Given the description of an element on the screen output the (x, y) to click on. 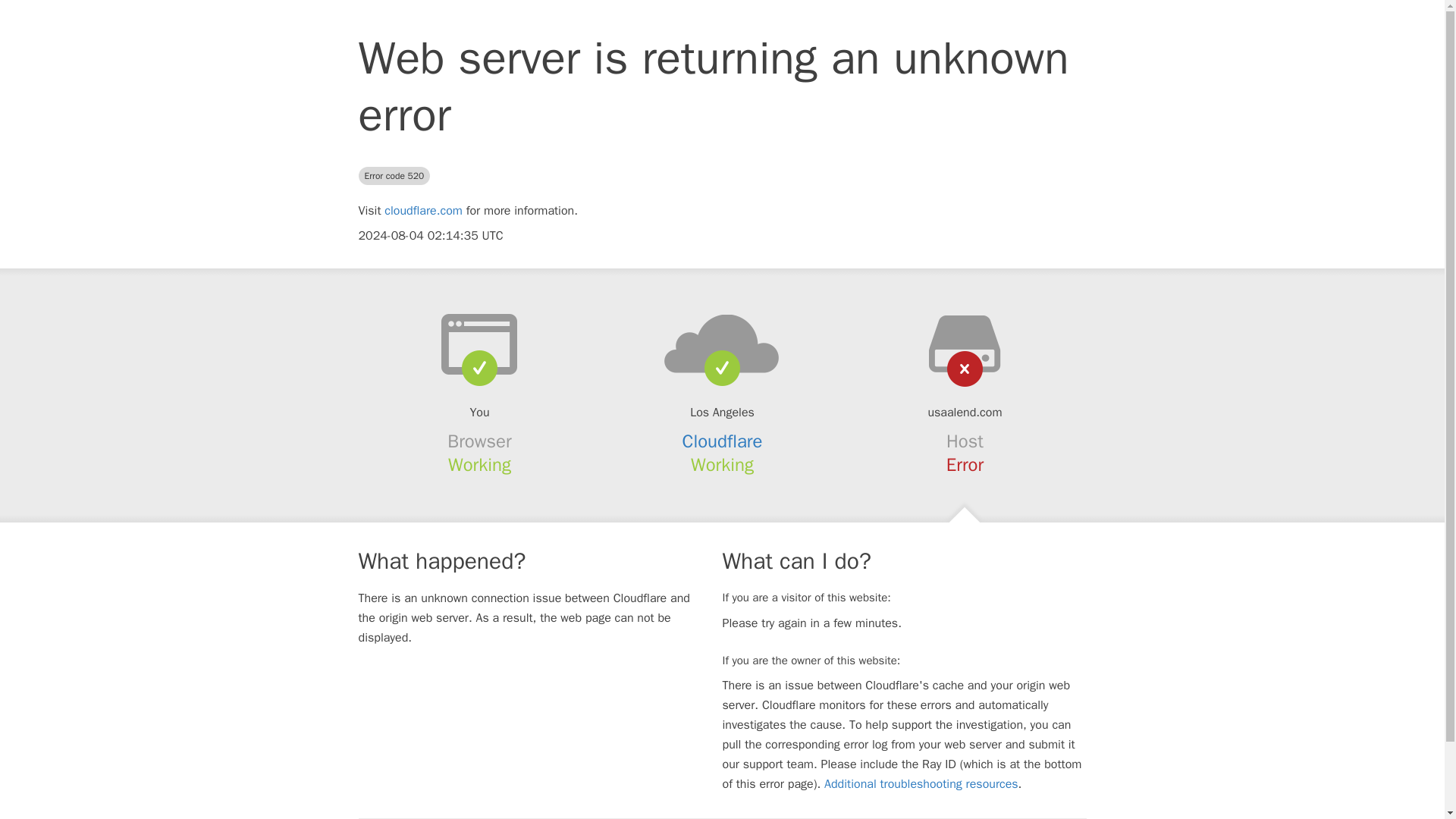
cloudflare.com (423, 210)
Additional troubleshooting resources (920, 783)
Cloudflare (722, 440)
